Given the description of an element on the screen output the (x, y) to click on. 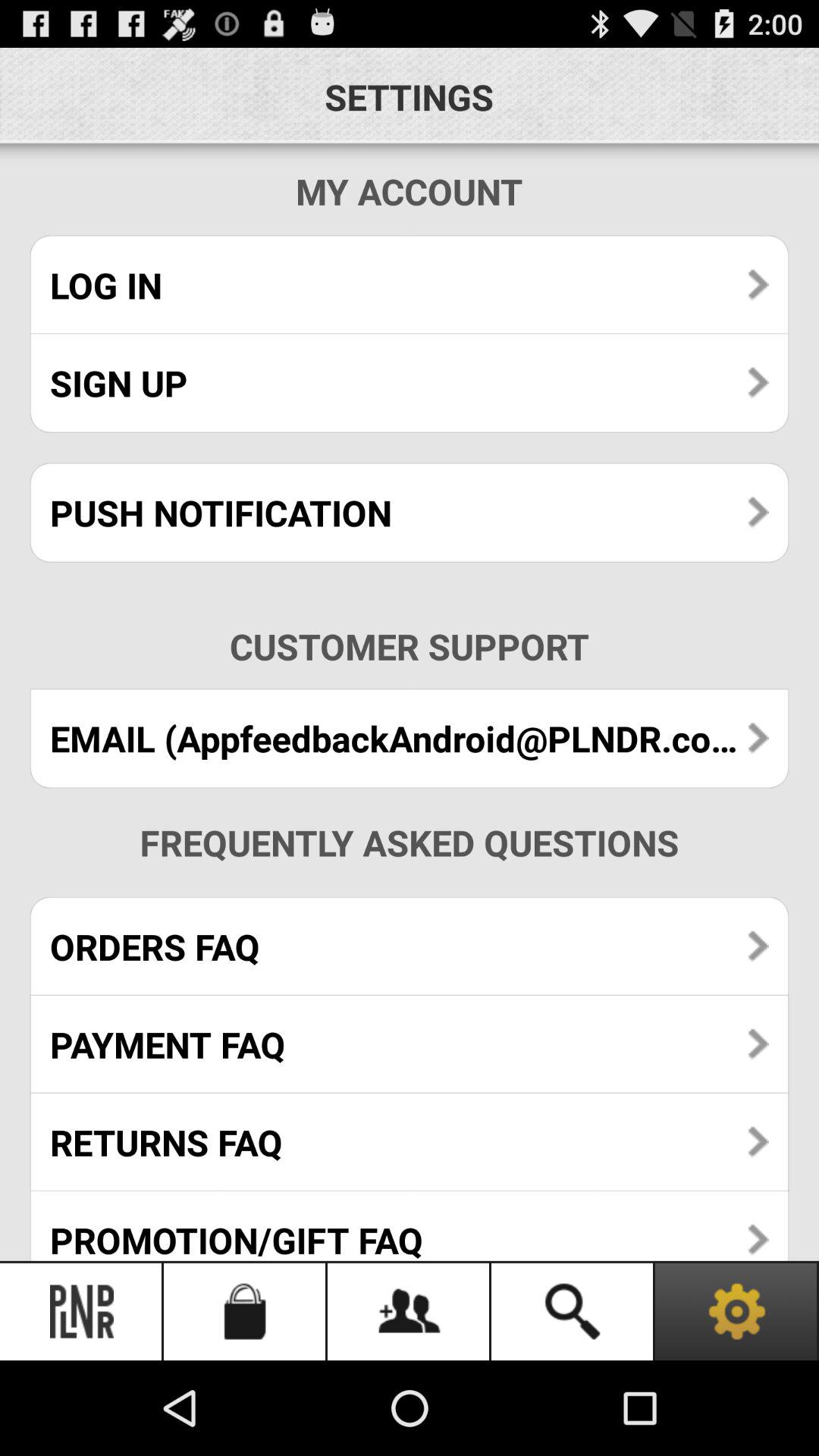
scroll to the payment faq icon (409, 1044)
